Given the description of an element on the screen output the (x, y) to click on. 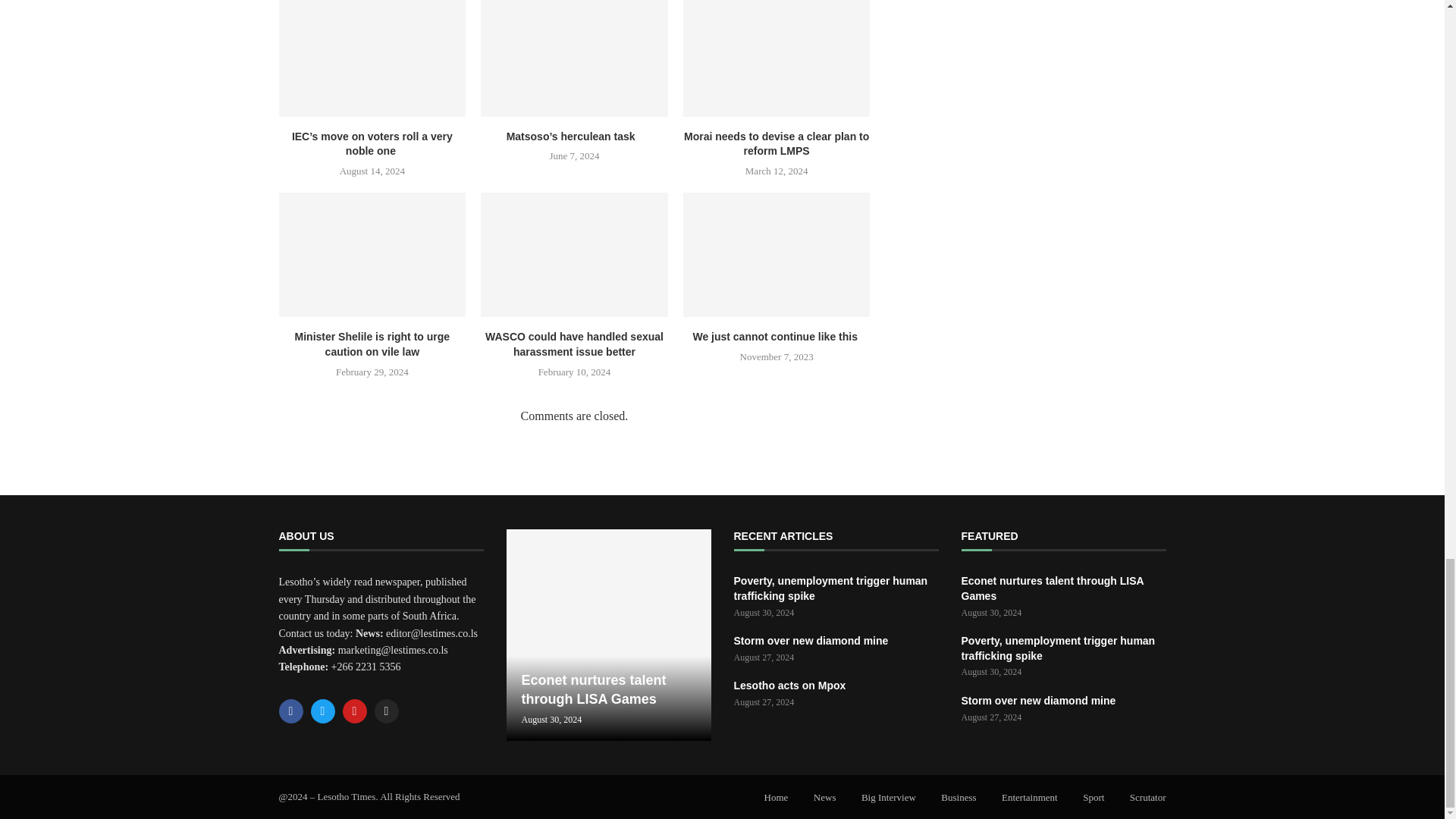
Morai needs to devise a clear plan to reform LMPS (776, 58)
Minister Shelile is right to urge caution on vile law (372, 254)
WASCO could have handled sexual harassment issue better (574, 254)
